Given the description of an element on the screen output the (x, y) to click on. 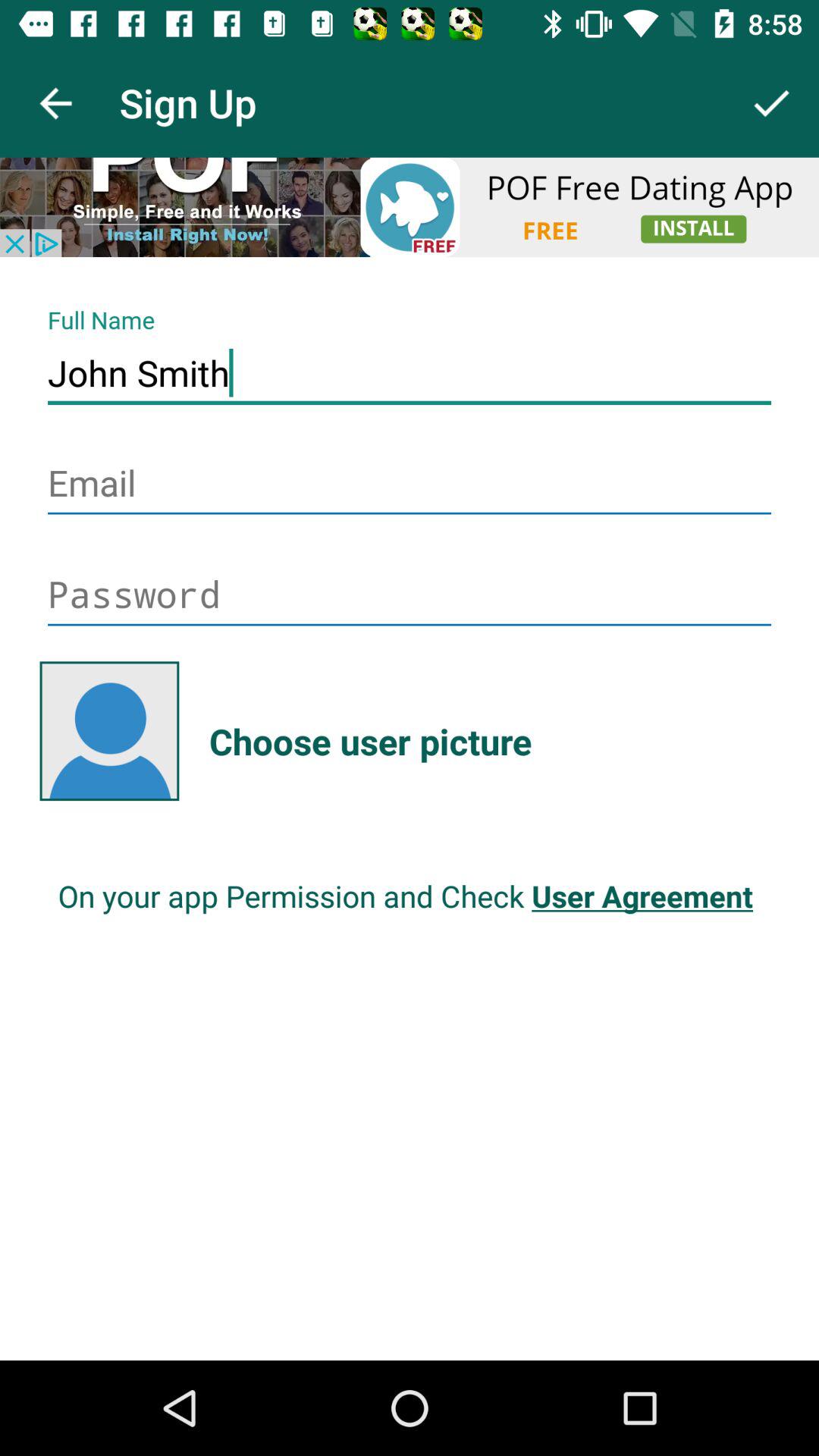
pas (409, 596)
